Given the description of an element on the screen output the (x, y) to click on. 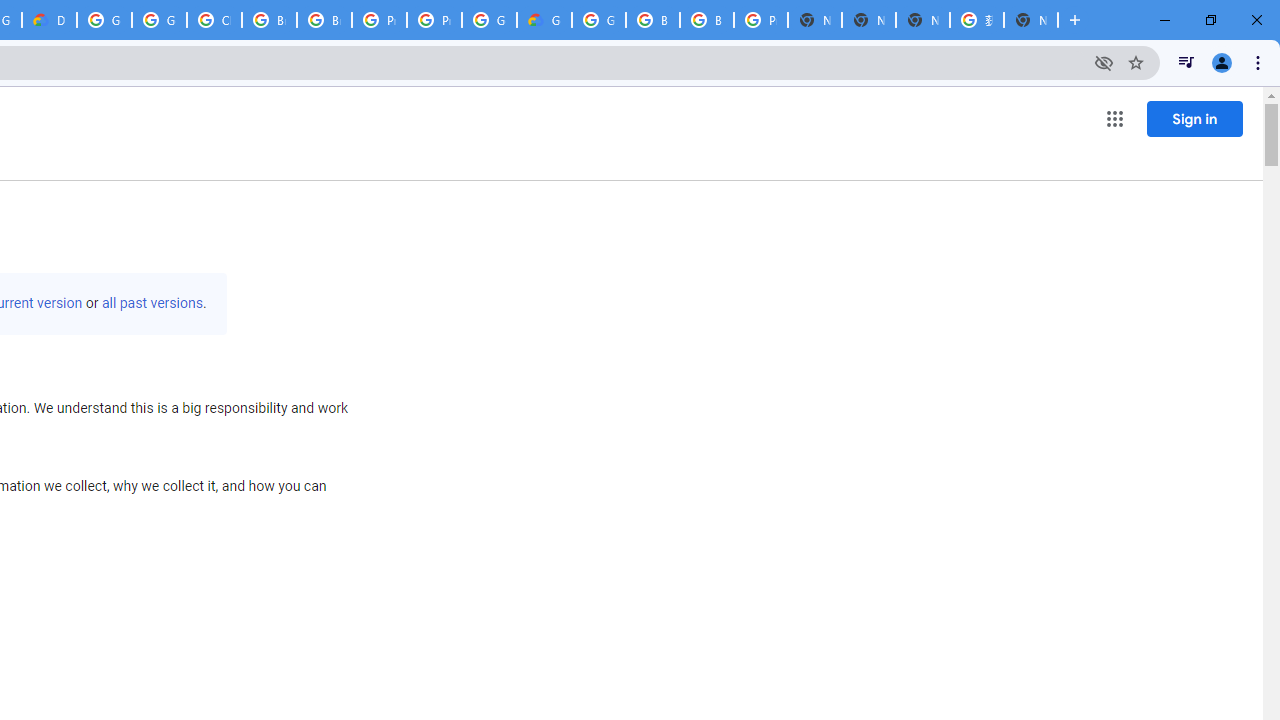
all past versions (152, 303)
New Tab (1030, 20)
Google Cloud Platform (489, 20)
Google Cloud Estimate Summary (544, 20)
